Given the description of an element on the screen output the (x, y) to click on. 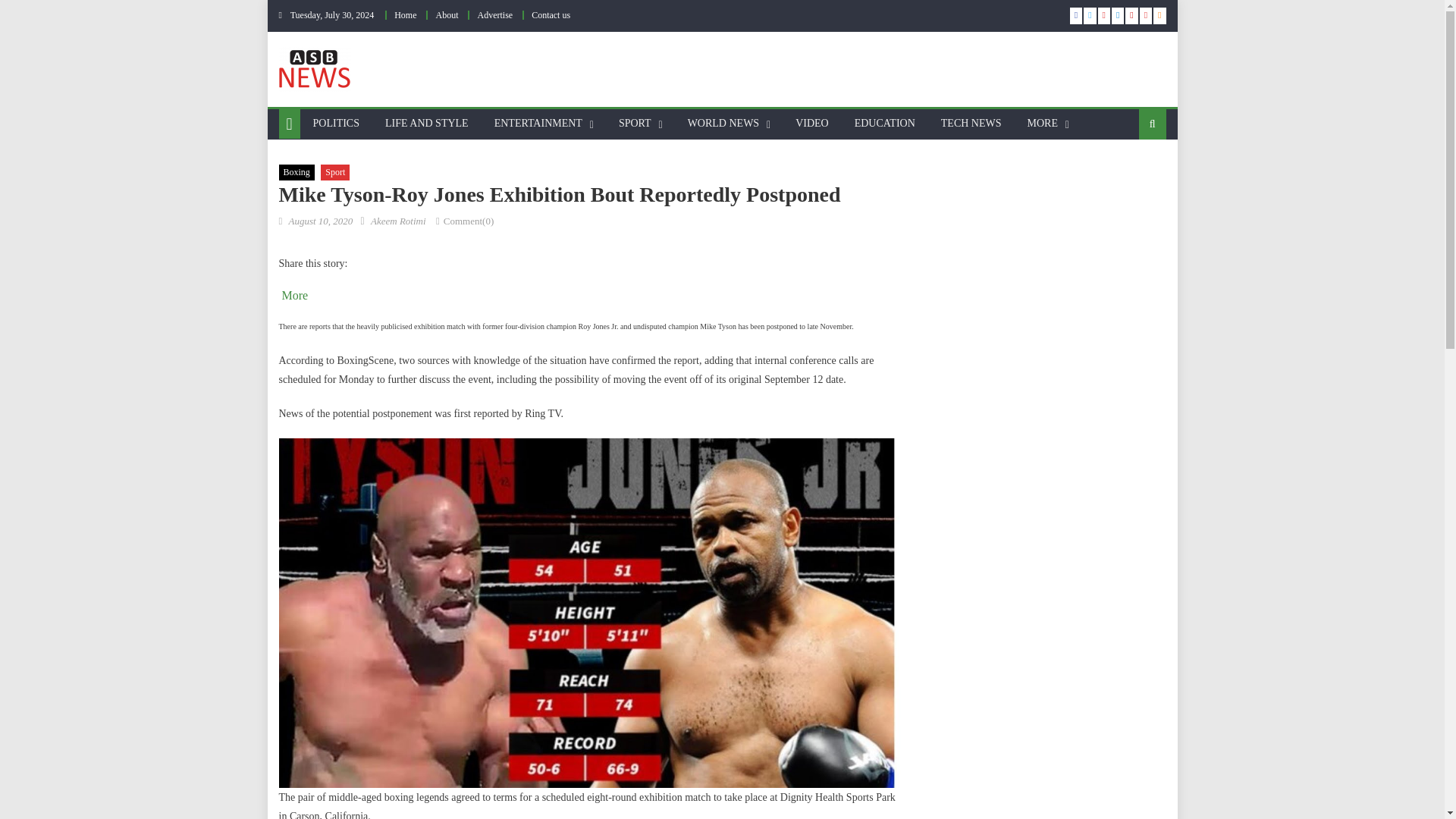
Contact us (550, 14)
ENTERTAINMENT (538, 123)
MORE (1042, 123)
SPORT (634, 123)
About (446, 14)
August 10, 2020 (320, 220)
EDUCATION (884, 123)
Home (405, 14)
Boxing (296, 172)
WORLD NEWS (724, 123)
POLITICS (336, 123)
Sport (334, 172)
TECH NEWS (971, 123)
VIDEO (812, 123)
